Given the description of an element on the screen output the (x, y) to click on. 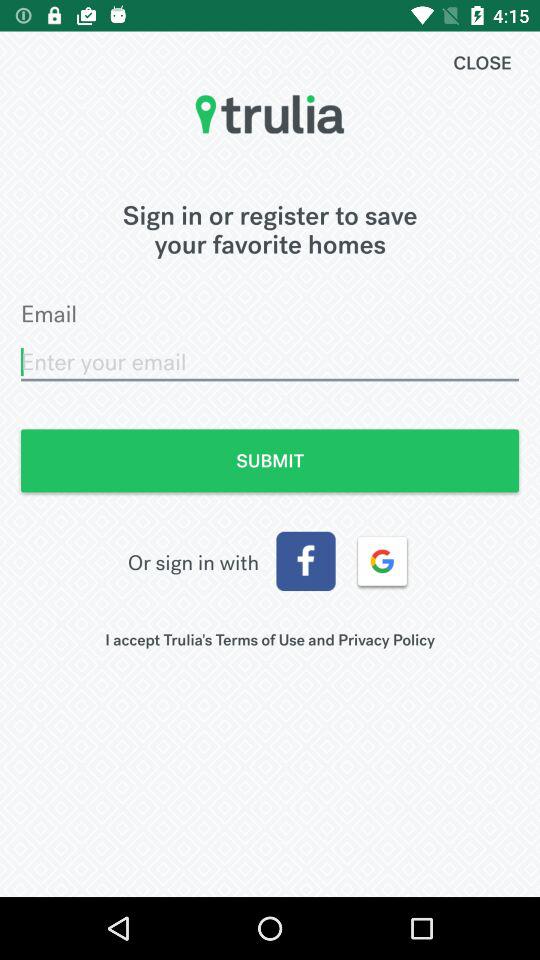
select item at the top right corner (482, 62)
